Given the description of an element on the screen output the (x, y) to click on. 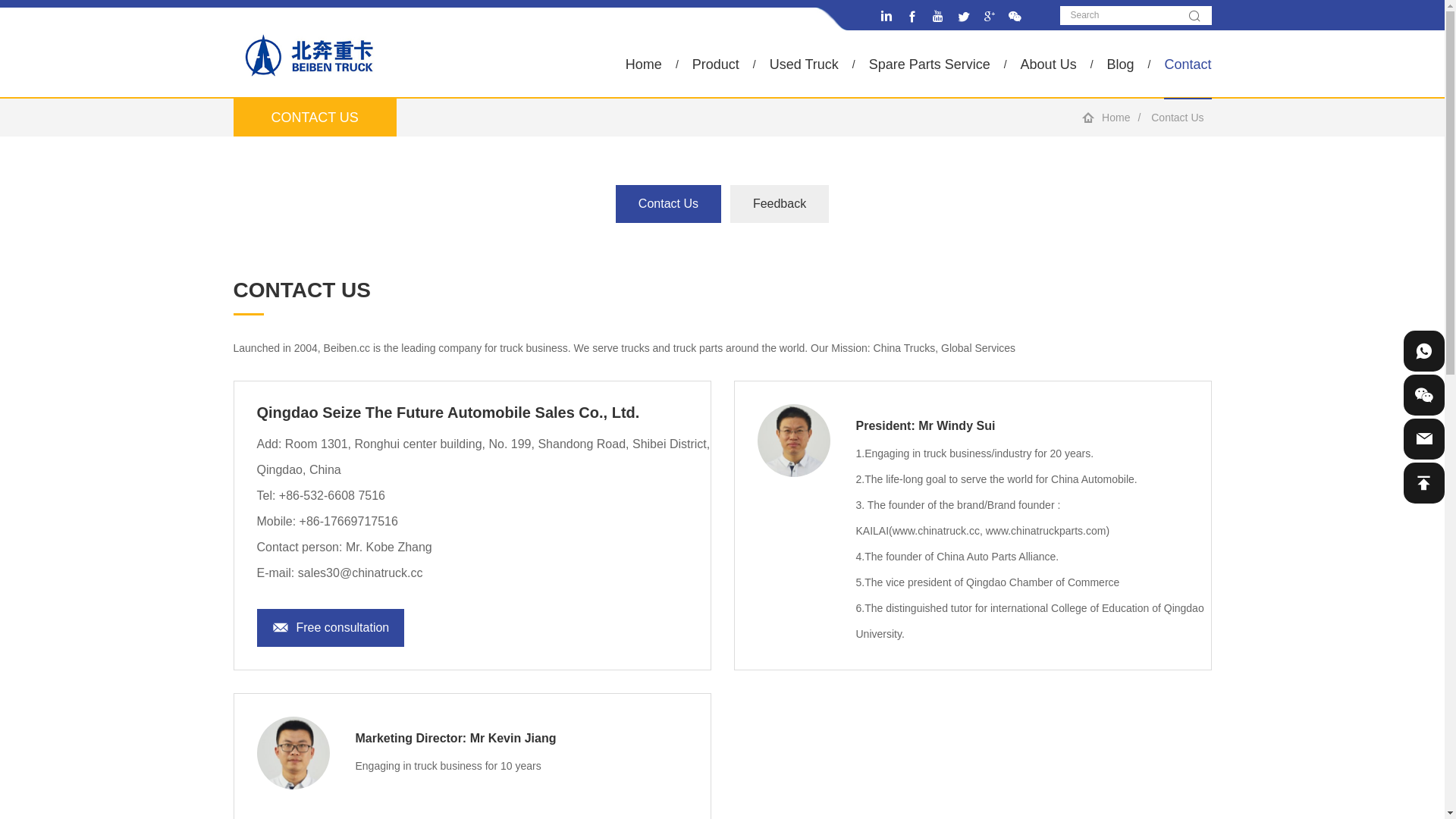
Contact Us Element type: text (668, 203)
+86-532-6608 7516 Element type: text (332, 495)
About Us Element type: text (1048, 64)
Feedback Element type: text (779, 203)
Contact Us Element type: text (1177, 117)
Spare Parts Service Element type: text (929, 64)
sales30@chinatruck.cc Element type: text (360, 572)
Home Element type: text (643, 64)
Home Element type: text (1115, 117)
Blog Element type: text (1120, 64)
Contact Element type: text (1187, 64)
Product Element type: text (715, 64)
+86-17669717516 Element type: text (348, 520)
Free consultation Element type: text (330, 627)
Used Truck Element type: text (803, 64)
